Given the description of an element on the screen output the (x, y) to click on. 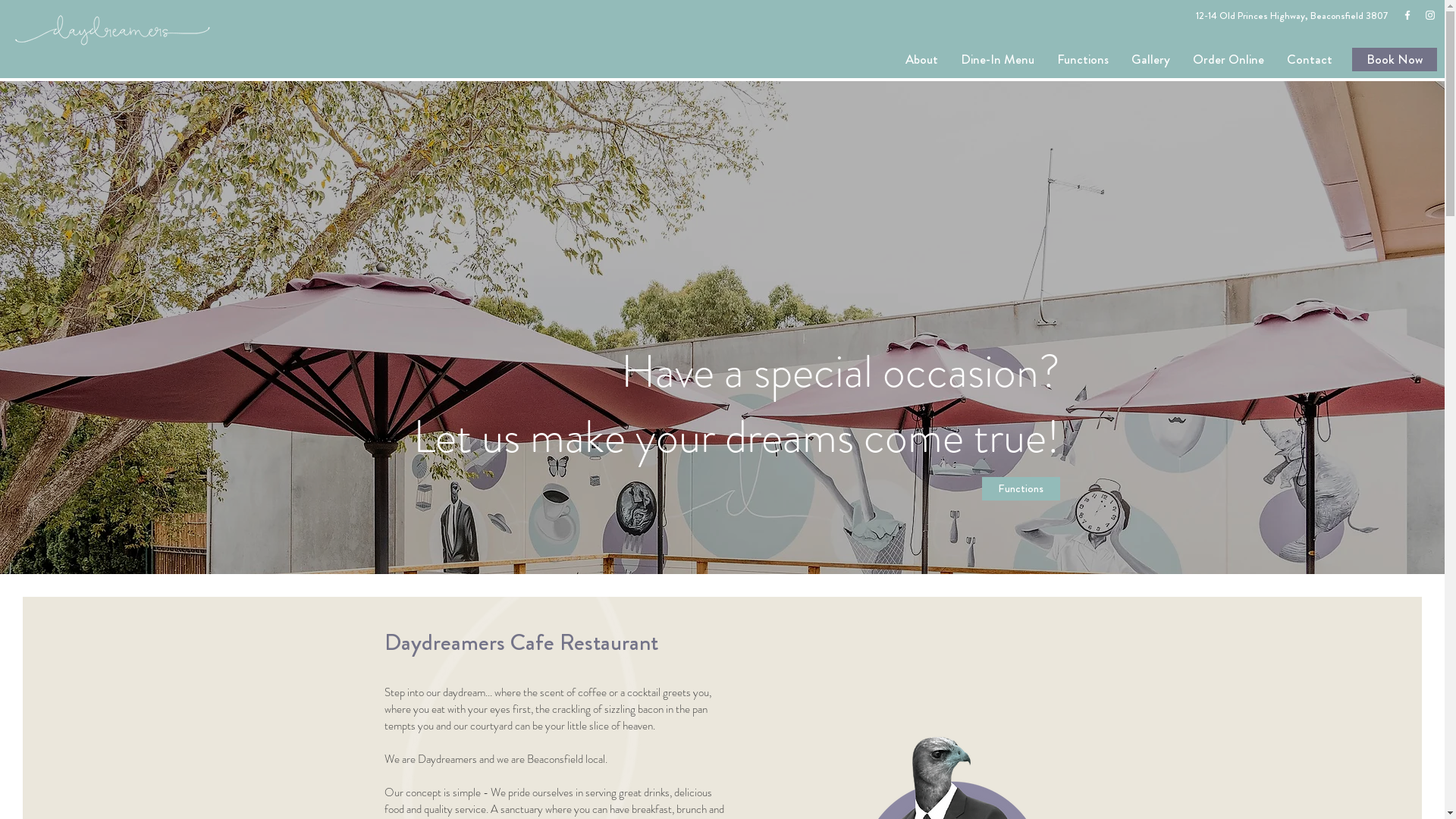
Functions Element type: text (1082, 59)
Gallery Element type: text (1150, 59)
Dine-In Menu Element type: text (997, 59)
Functions Element type: text (1020, 488)
Contact Element type: text (1309, 59)
Order Online Element type: text (1228, 59)
Book Now Element type: text (1394, 59)
About Element type: text (921, 59)
